Given the description of an element on the screen output the (x, y) to click on. 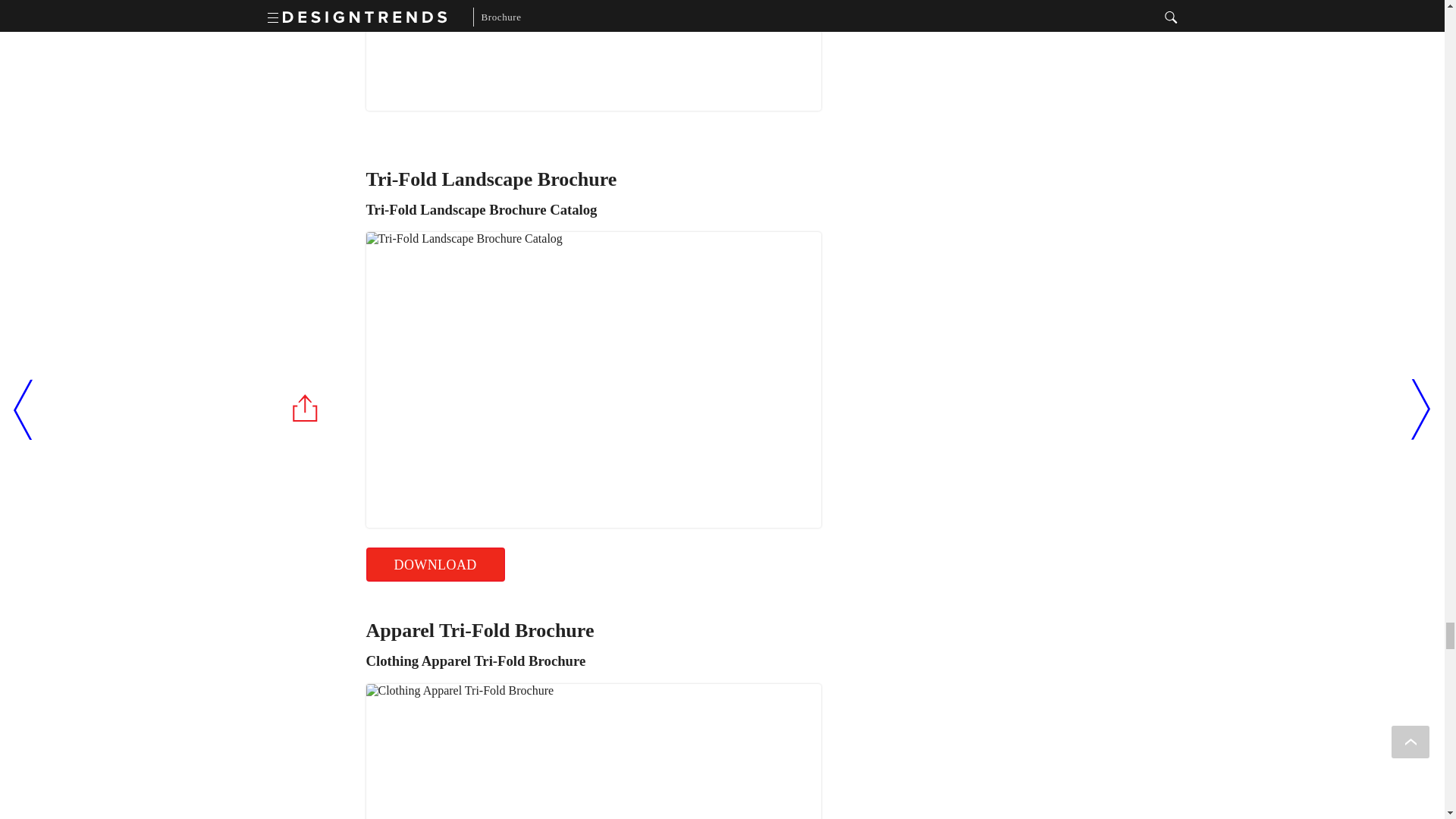
DOWNLOAD (434, 564)
